Given the description of an element on the screen output the (x, y) to click on. 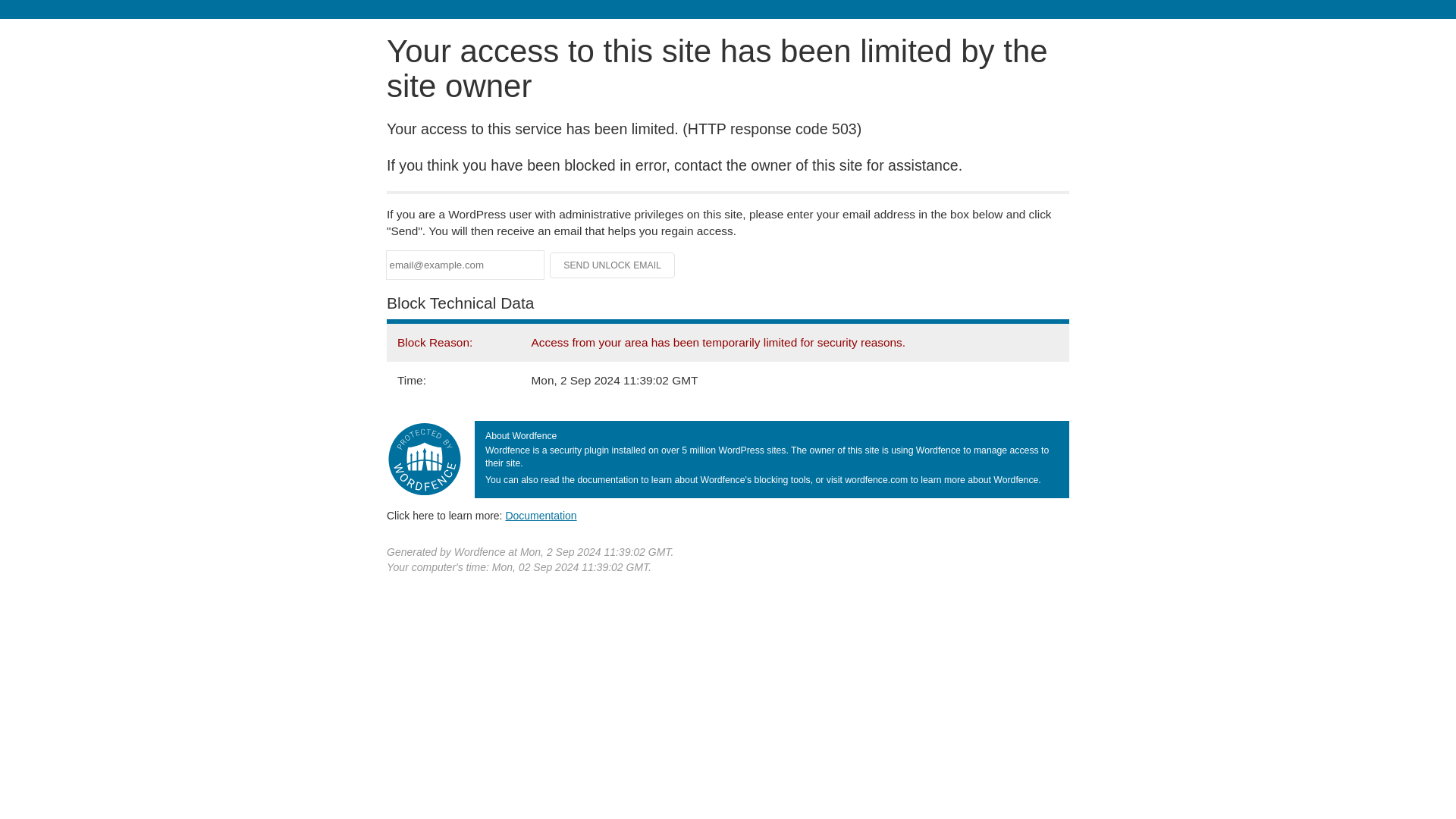
Send Unlock Email (612, 265)
Send Unlock Email (612, 265)
Documentation (540, 515)
